Given the description of an element on the screen output the (x, y) to click on. 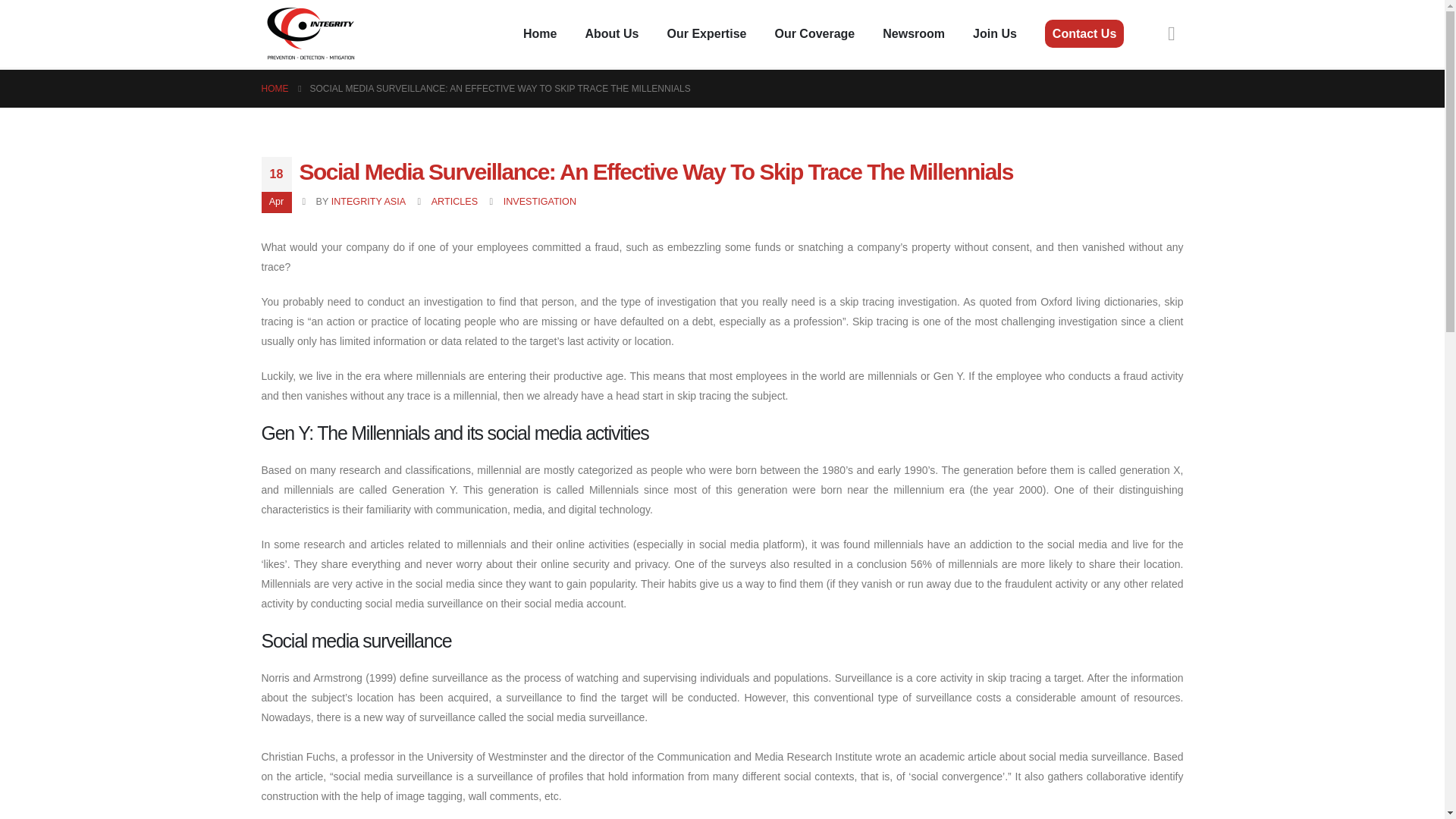
Home (539, 33)
Our Expertise (706, 33)
Join Us (994, 33)
Our Coverage (813, 33)
Go to Home Page (274, 88)
Contact Us (1083, 33)
Posts by Integrity Asia (368, 201)
Newsroom (913, 33)
About Us (611, 33)
